Given the description of an element on the screen output the (x, y) to click on. 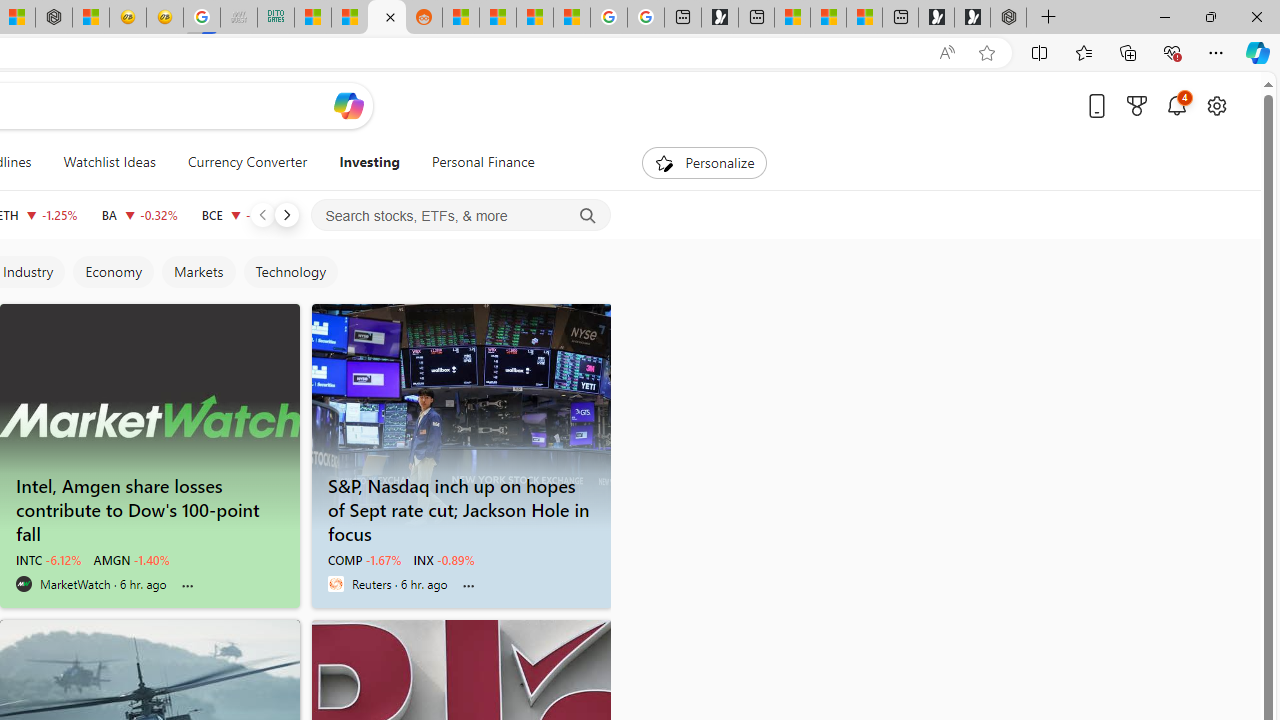
Read aloud this page (Ctrl+Shift+U) (946, 53)
MSNBC - MSN (312, 17)
Economy (112, 272)
Notifications (1176, 105)
Currency Converter (247, 162)
These 3 Stocks Pay You More Than 5% to Own Them (864, 17)
Markets (198, 272)
Close tab (390, 16)
Technology (290, 272)
Personalize (703, 162)
Currency Converter (247, 162)
Minimize (1164, 16)
Nordace - Nordace Siena Is Not An Ordinary Backpack (1008, 17)
